Given the description of an element on the screen output the (x, y) to click on. 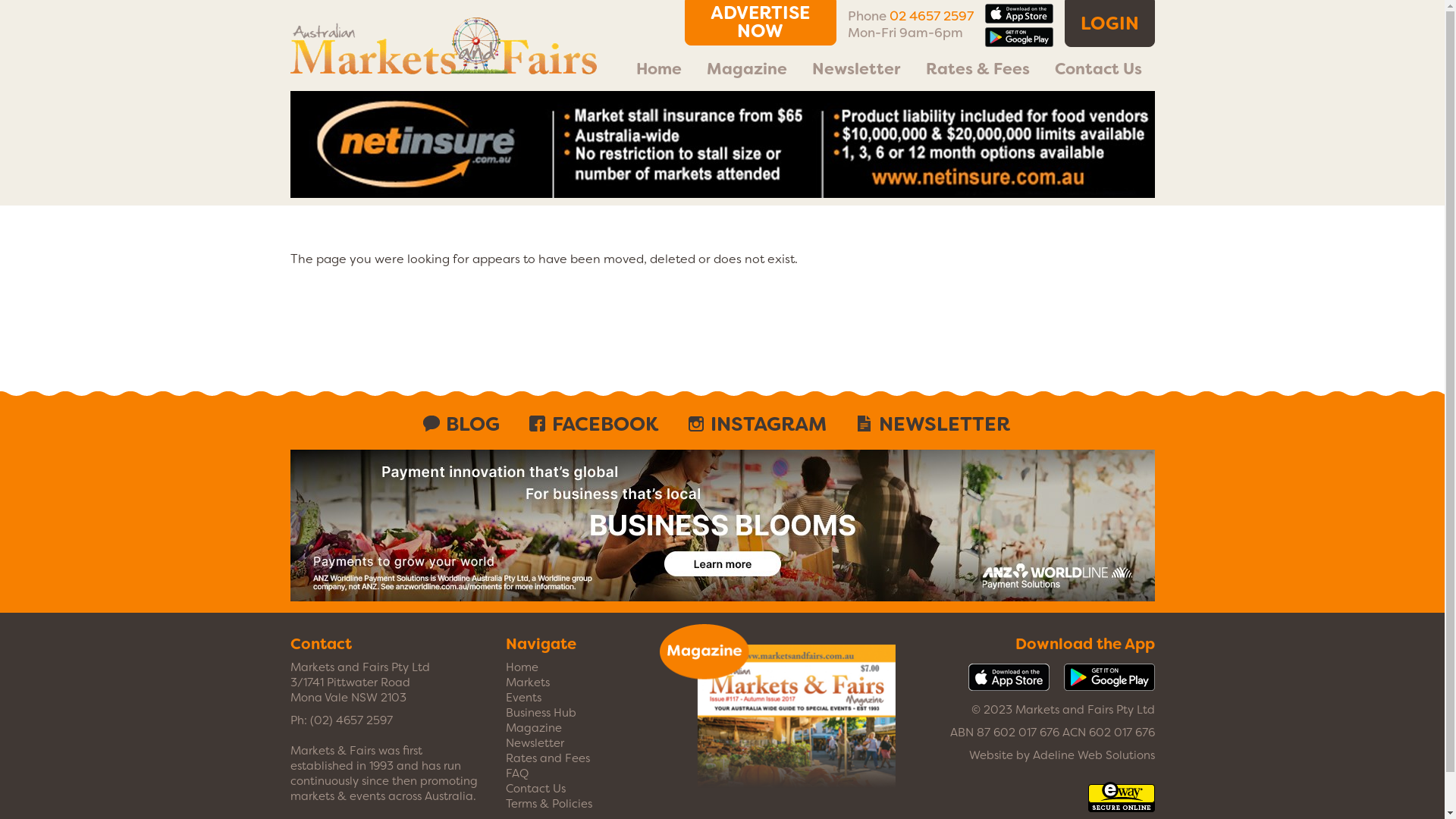
Home Element type: text (521, 666)
Newsletter Element type: text (856, 68)
Contact Us Element type: text (535, 788)
Magazine Element type: text (747, 68)
Markets Element type: text (527, 682)
Rates and Fees Element type: text (547, 757)
Adeline Web Solutions Element type: text (1093, 754)
Rates & Fees Element type: text (977, 68)
Events Element type: text (523, 697)
BLOG Element type: text (466, 423)
Terms & Policies Element type: text (548, 803)
FACEBOOK Element type: text (599, 423)
Home Element type: text (658, 68)
Contact Us Element type: text (1097, 68)
eWAY Payment Gateway Element type: hover (1120, 804)
NEWSLETTER Element type: text (938, 423)
Business Hub Element type: text (540, 712)
(02) 4657 2597 Element type: text (350, 720)
Download the App Element type: text (1084, 643)
LOGIN Element type: text (1109, 23)
ADVERTISE NOW Element type: text (759, 22)
FAQ Element type: text (516, 773)
Magazine Element type: text (533, 727)
INSTAGRAM Element type: text (762, 423)
Newsletter Element type: text (534, 742)
